Given the description of an element on the screen output the (x, y) to click on. 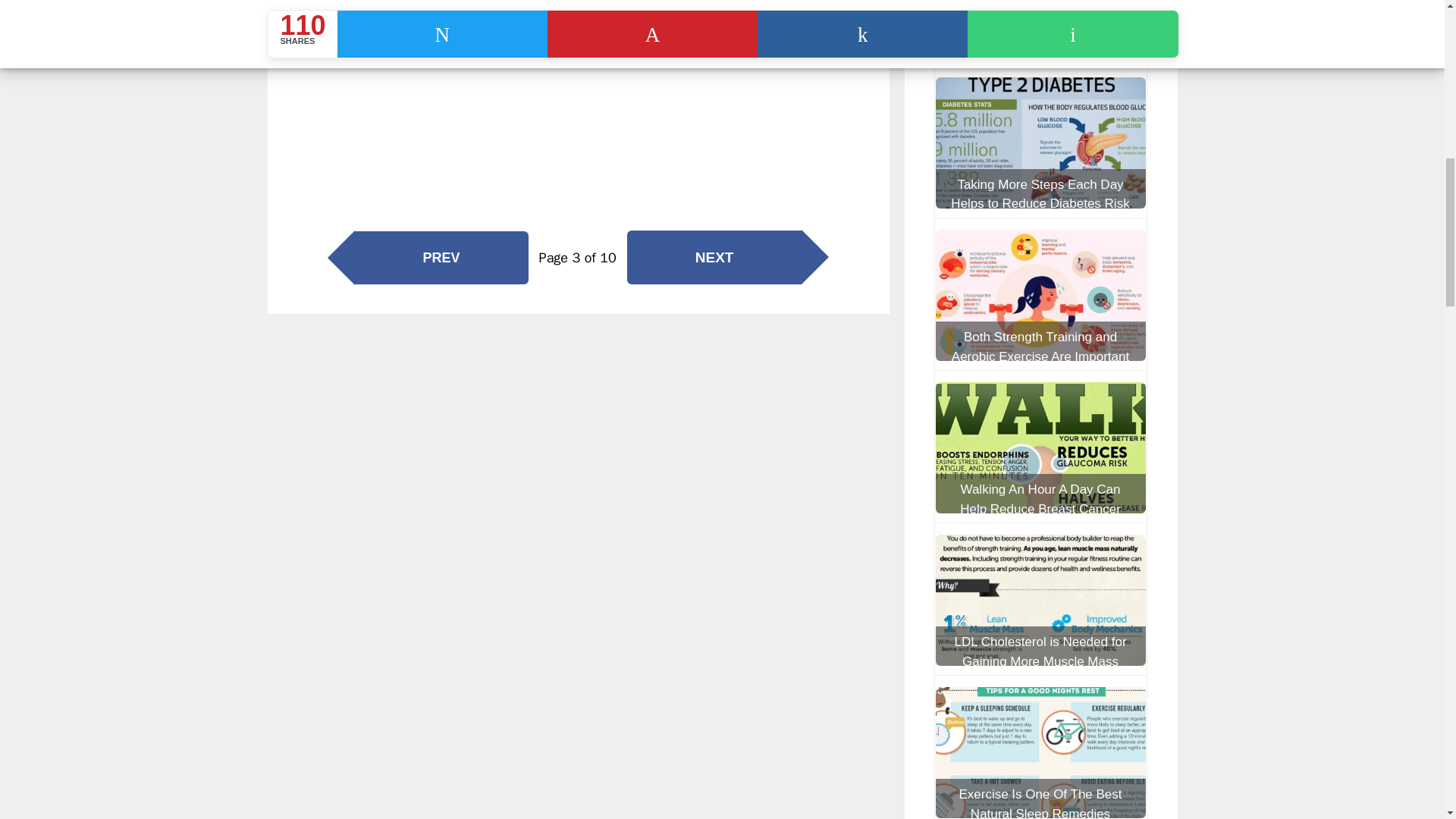
Advertisement (604, 104)
